Given the description of an element on the screen output the (x, y) to click on. 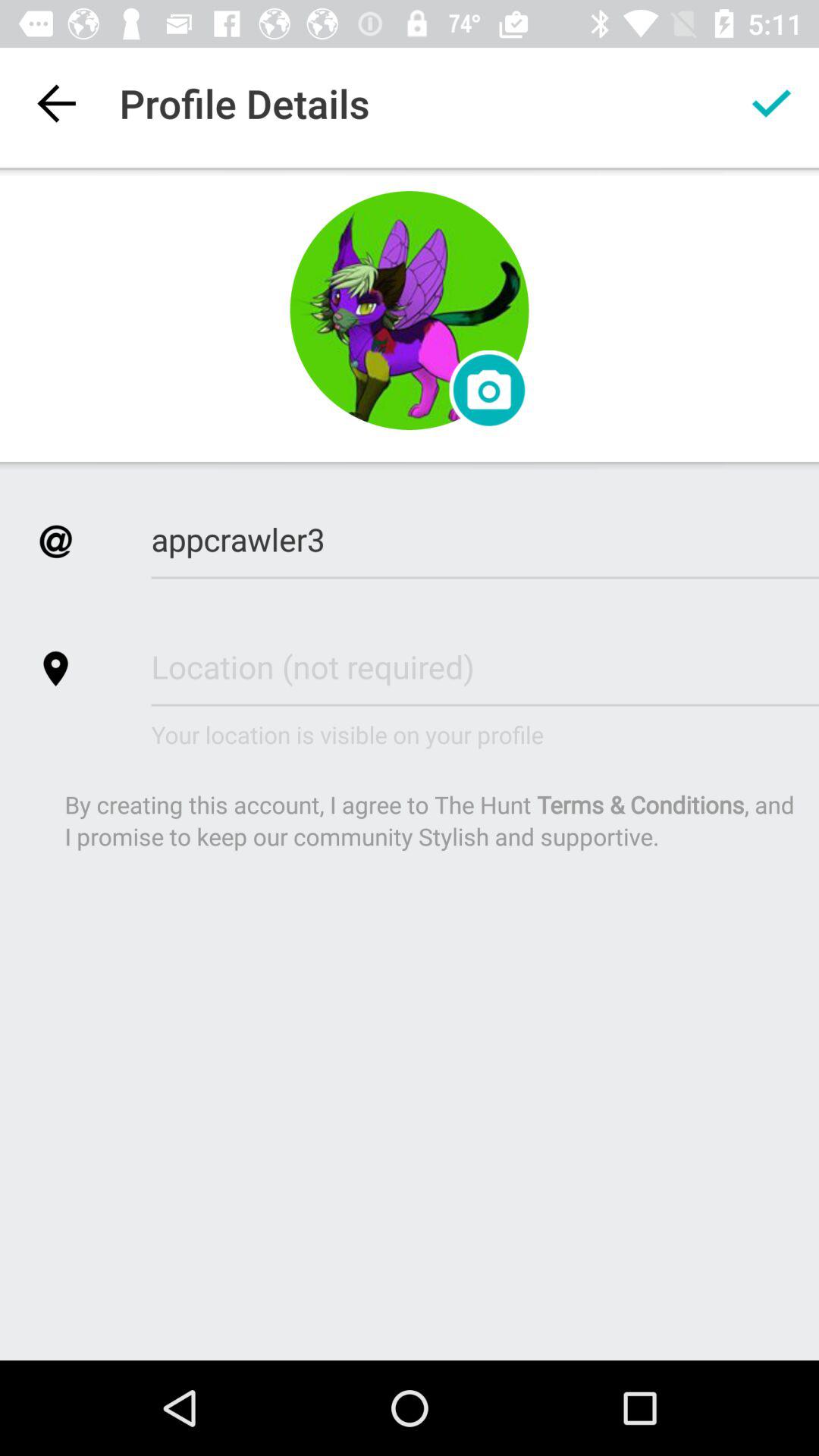
profile avatar edit button (409, 310)
